Given the description of an element on the screen output the (x, y) to click on. 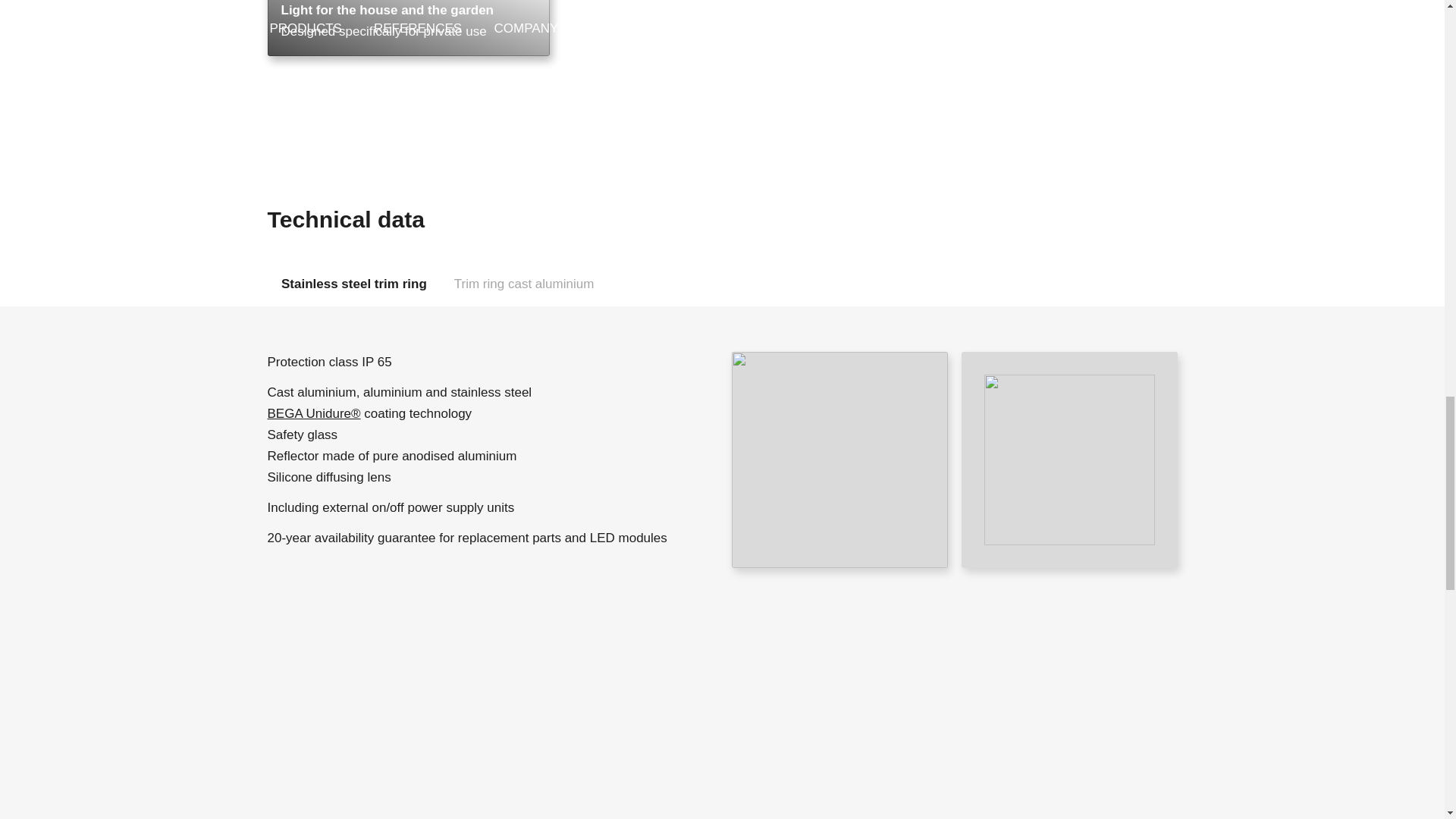
Stainless steel trim ring (721, 308)
Trim ring cast aluminium (352, 283)
